Given the description of an element on the screen output the (x, y) to click on. 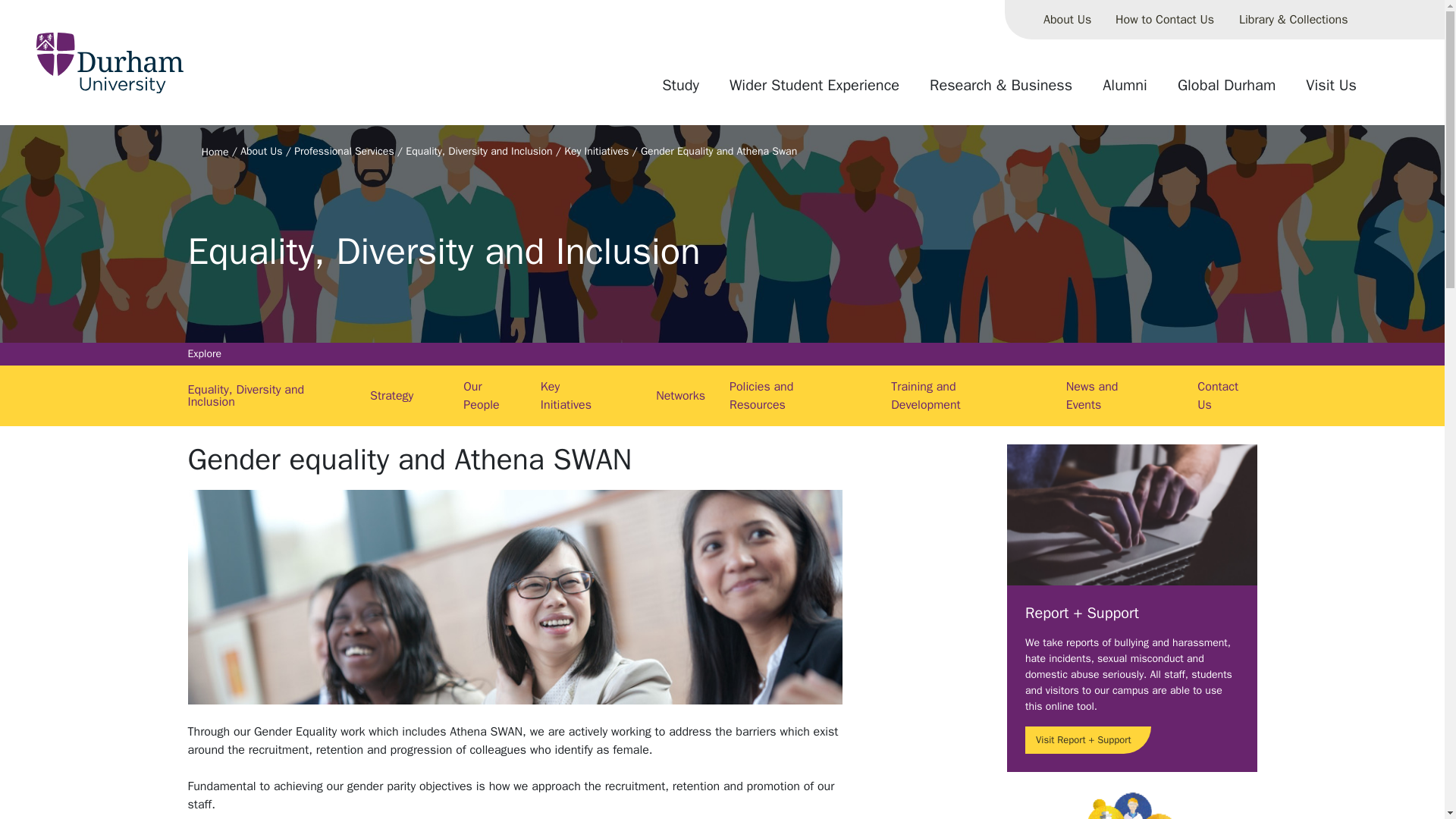
Global Durham (1226, 91)
About Us (1066, 19)
Study (680, 91)
How to Contact Us (1164, 19)
Visit Us (1331, 91)
Wider Student Experience (814, 91)
Alumni (1124, 91)
